Given the description of an element on the screen output the (x, y) to click on. 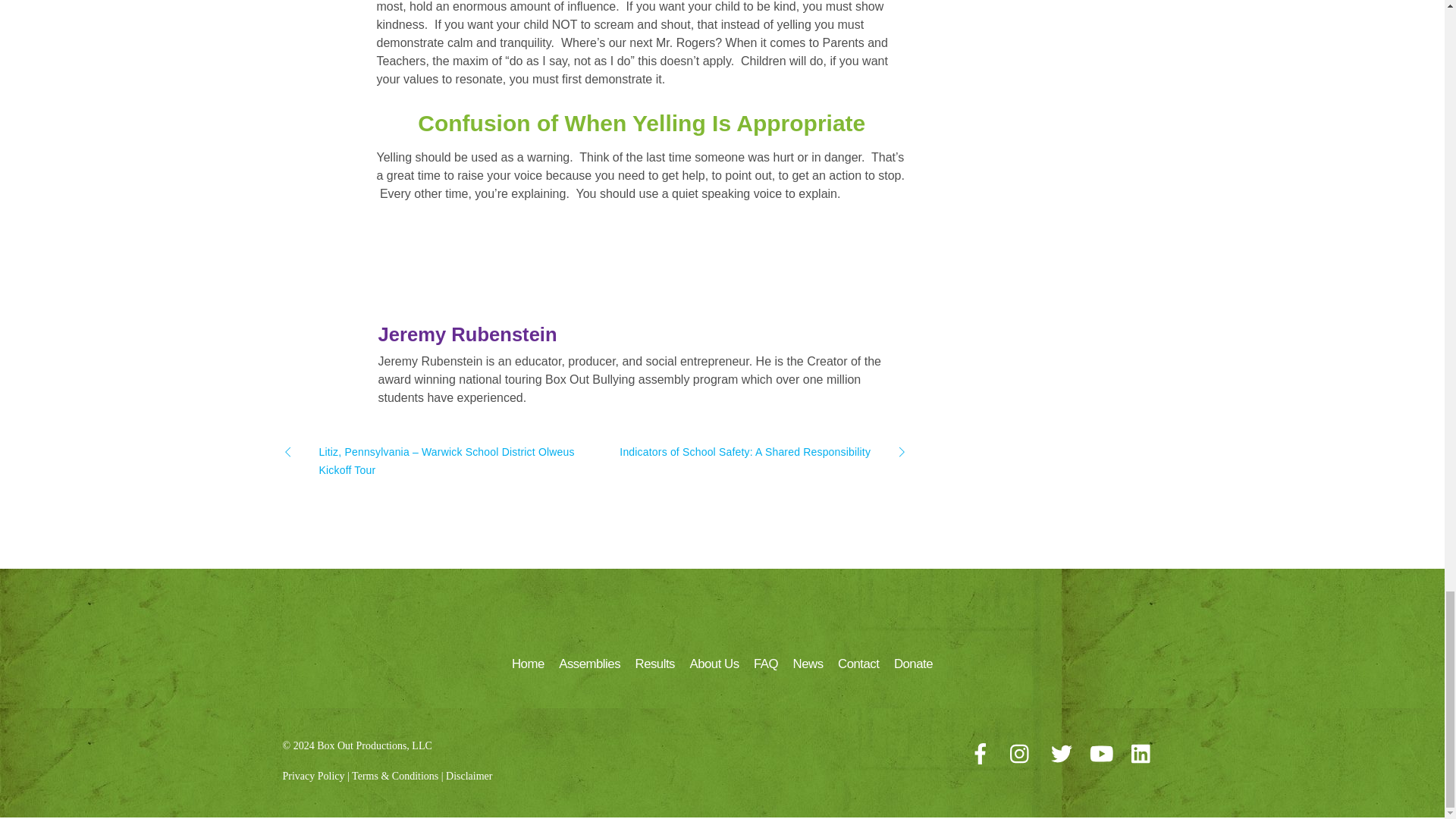
Donate (913, 663)
FAQ (765, 663)
Privacy Policy (312, 776)
Disclaimer (468, 776)
About Us (714, 663)
Home (528, 663)
News (808, 663)
Indicators of School Safety: A Shared Responsibility (759, 452)
Results (654, 663)
Contact (858, 663)
